Given the description of an element on the screen output the (x, y) to click on. 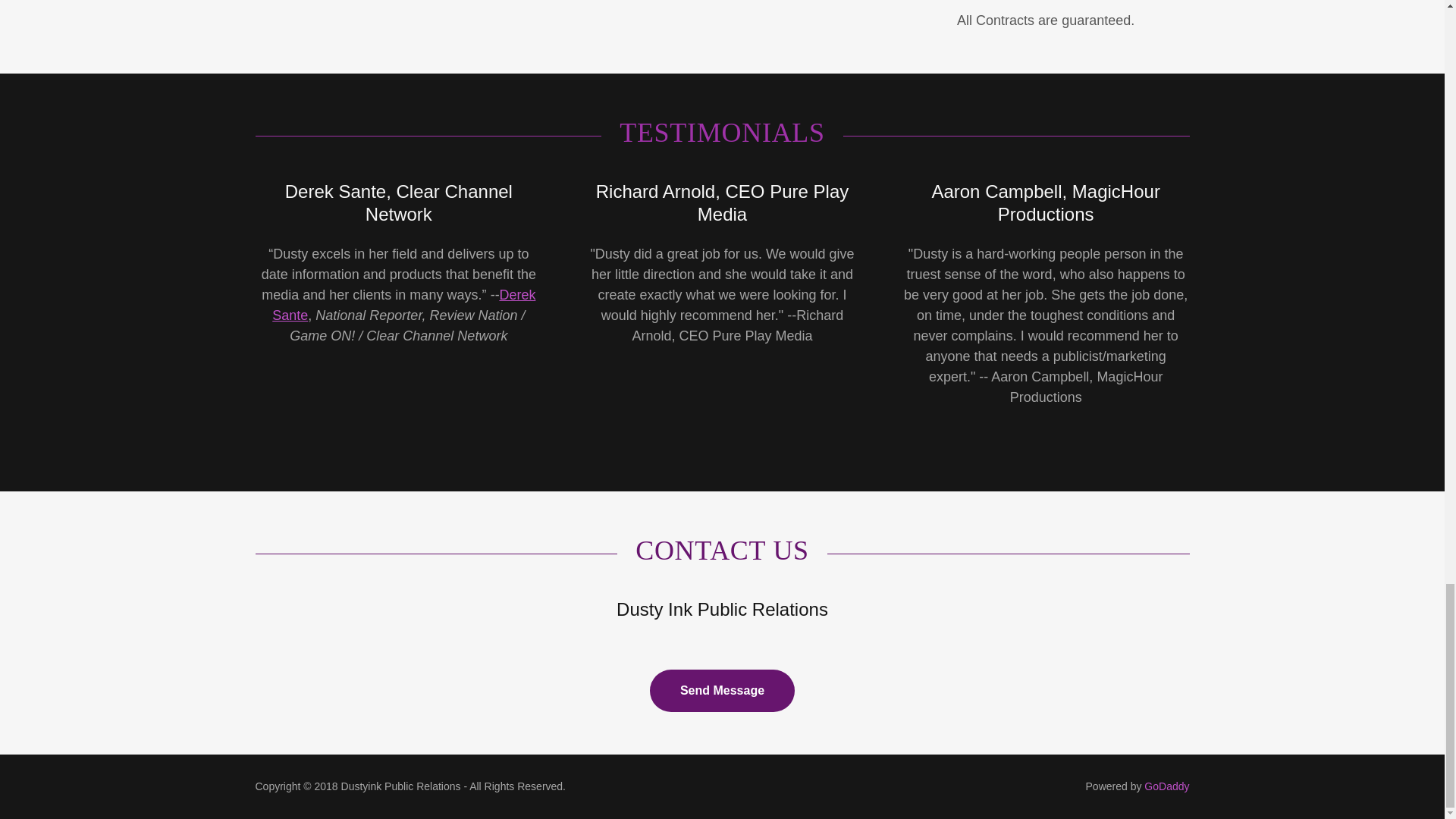
GoDaddy (1166, 786)
Send Message (721, 690)
Derek Sante (403, 304)
